Given the description of an element on the screen output the (x, y) to click on. 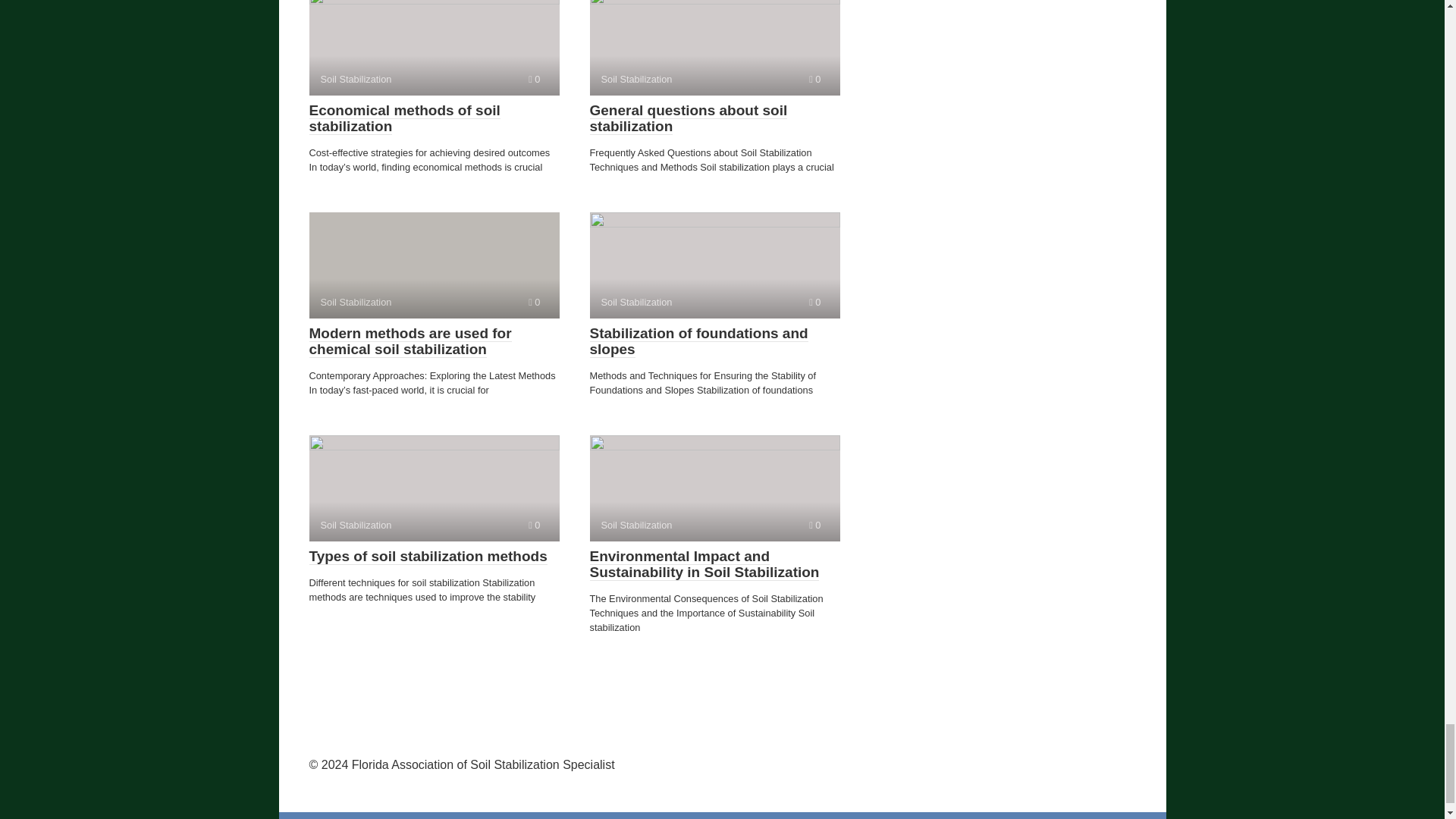
Comments (534, 79)
Economical methods of soil stabilization (404, 118)
Comments (815, 524)
Comments (714, 47)
Types of soil stabilization methods (714, 265)
Stabilization of foundations and slopes (433, 487)
General questions about soil stabilization (815, 79)
Comments (427, 556)
Comments (714, 487)
